Given the description of an element on the screen output the (x, y) to click on. 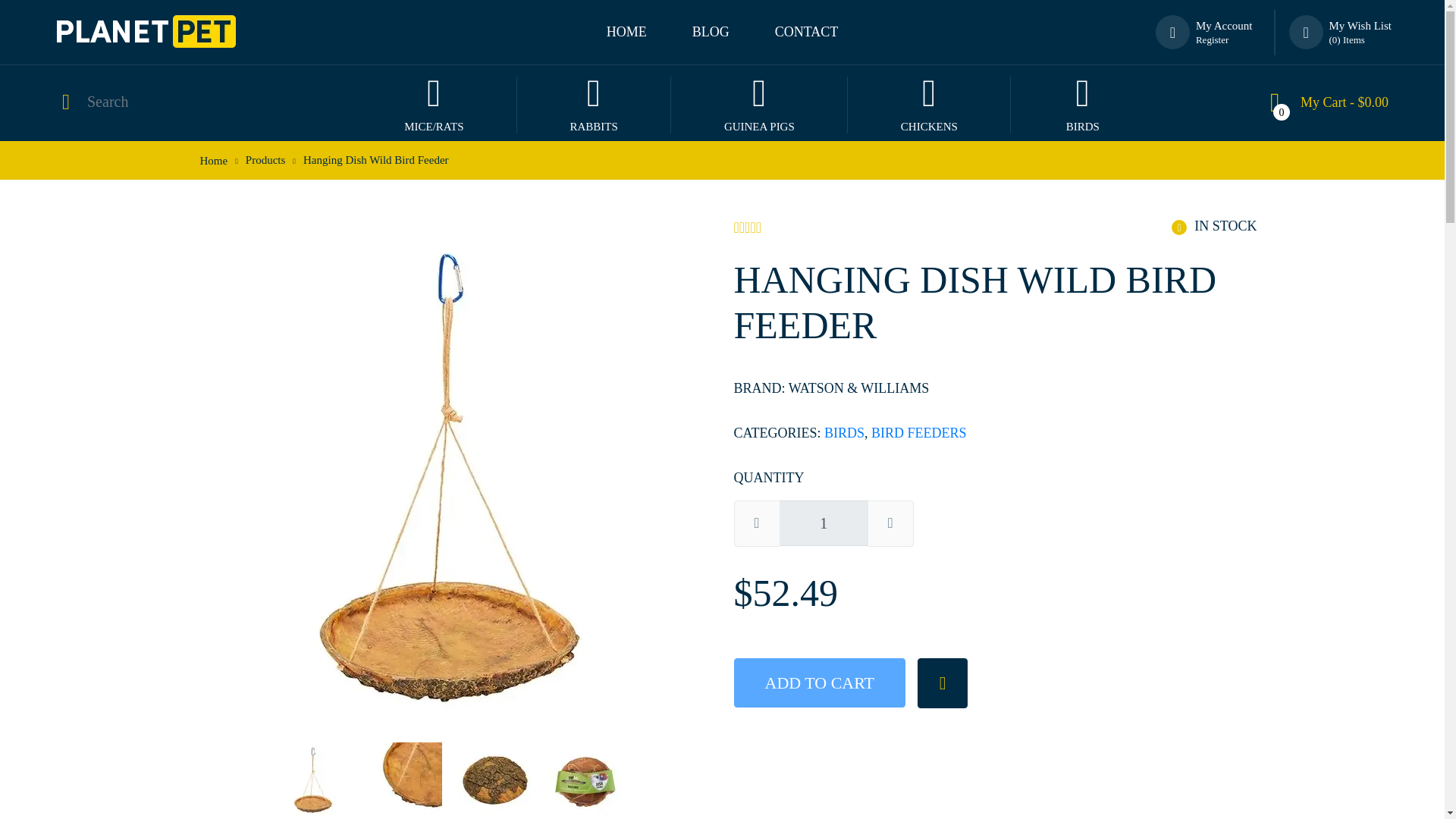
GUINEA PIGS (759, 102)
Register (1211, 39)
My Account (1223, 25)
RABBITS (593, 102)
1 (822, 523)
HOME (626, 32)
Register (1211, 39)
My Wish List (1360, 25)
CONTACT (806, 32)
BLOG (710, 32)
